Given the description of an element on the screen output the (x, y) to click on. 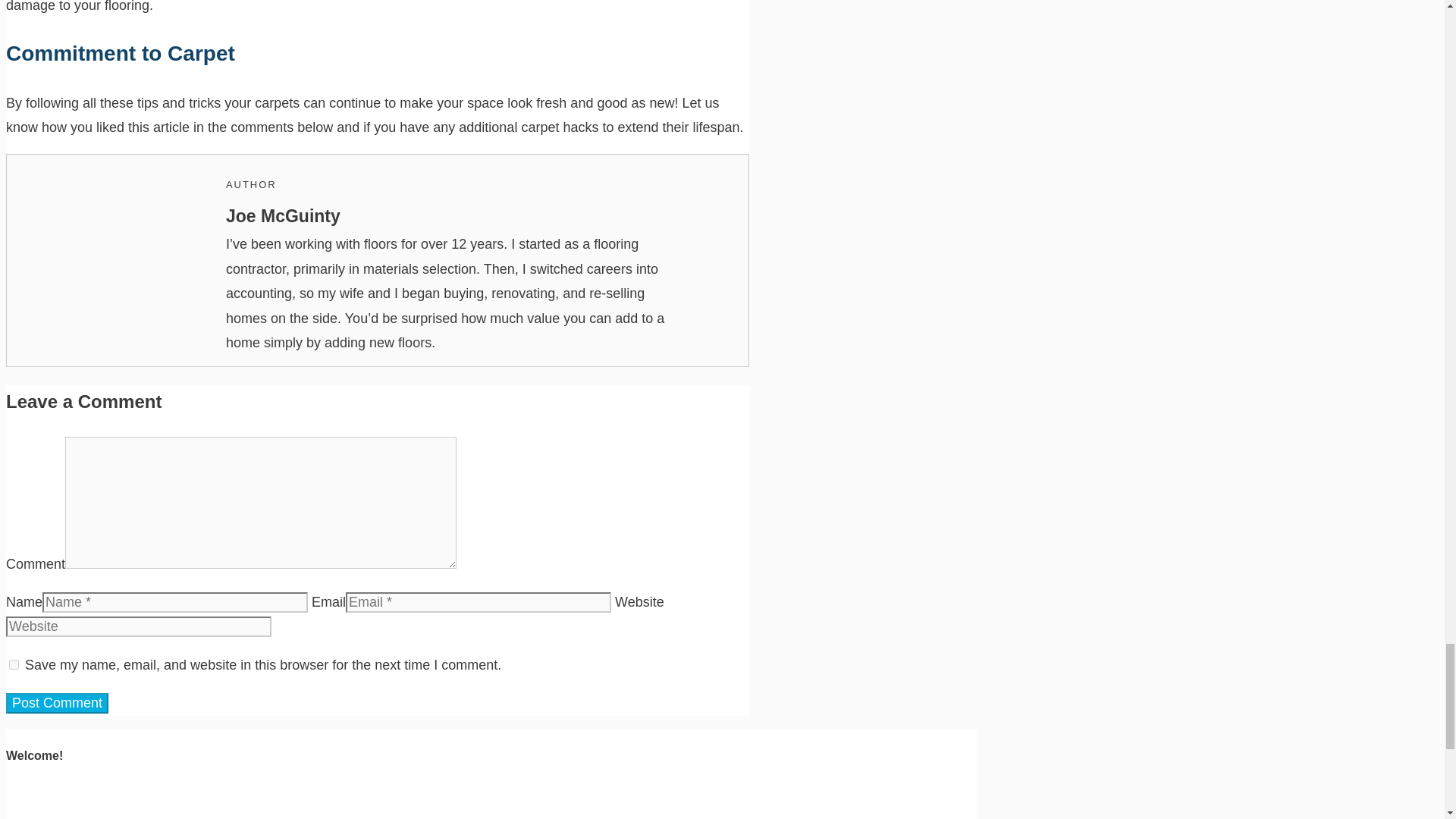
yes (13, 664)
Post Comment (56, 702)
Post Comment (56, 702)
